Given the description of an element on the screen output the (x, y) to click on. 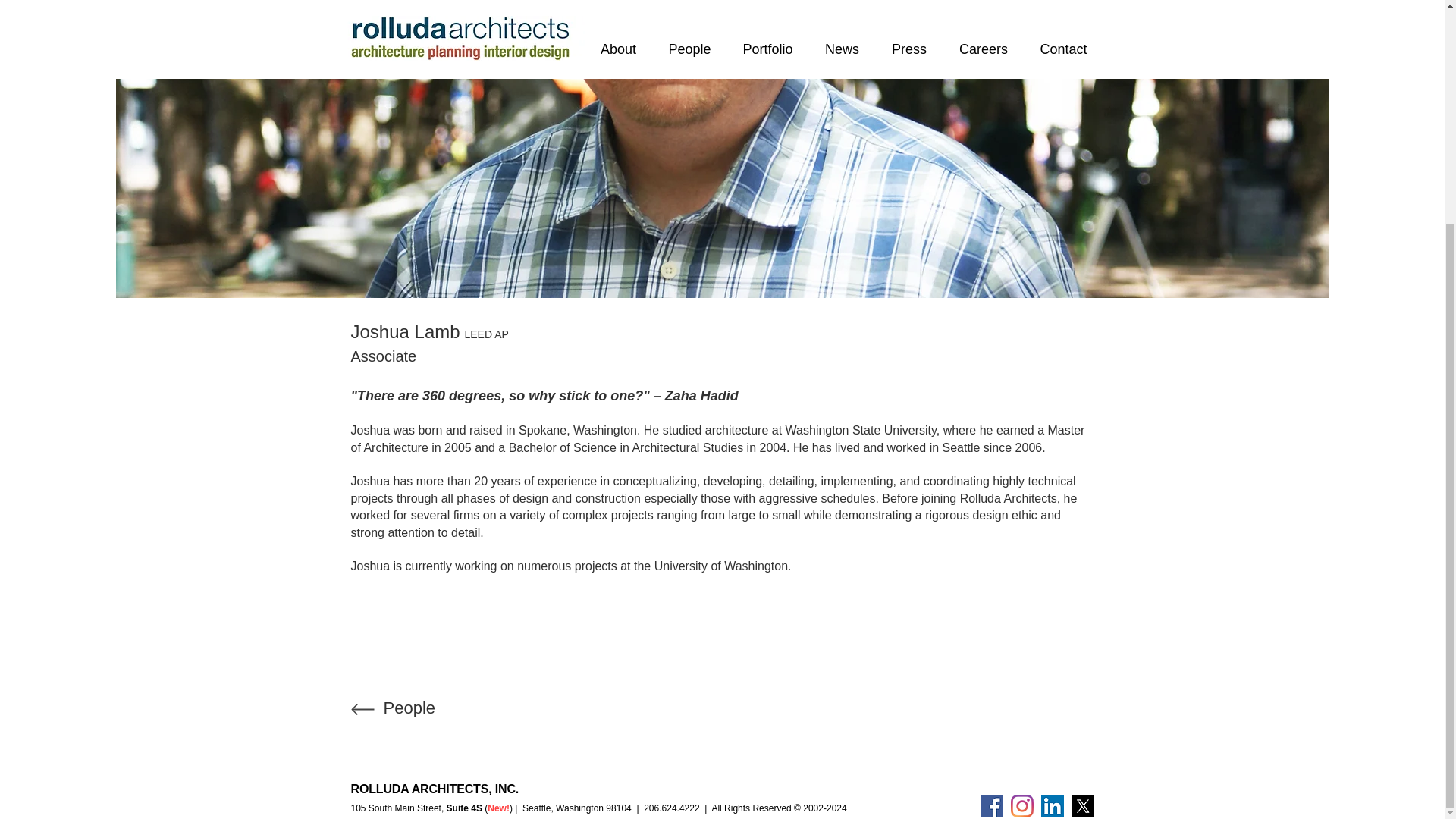
People (409, 707)
ROLLUDA ARCHITECTS, INC. (434, 788)
New! (498, 808)
206.624.4222 (670, 808)
